Given the description of an element on the screen output the (x, y) to click on. 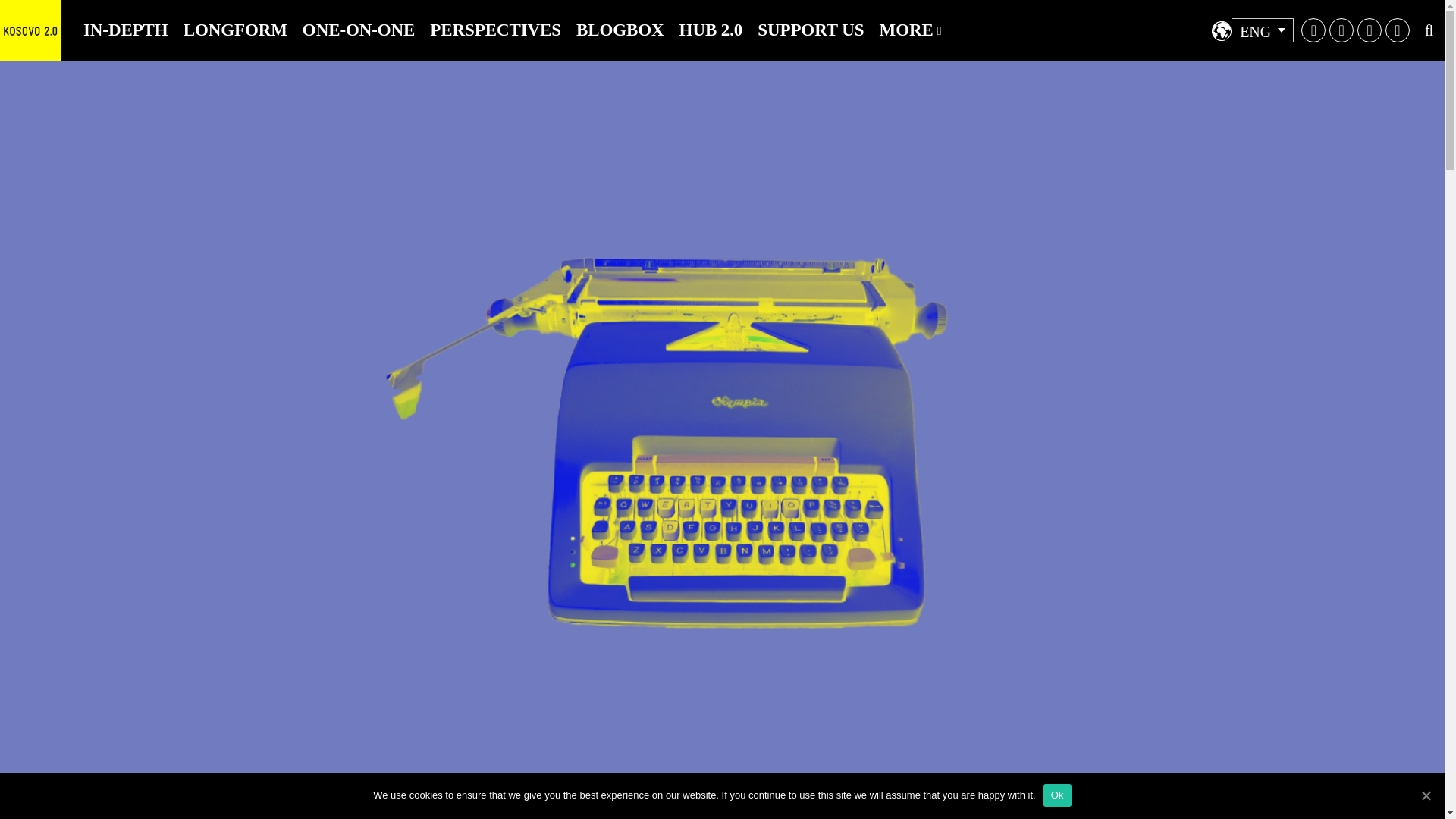
MORE (910, 30)
ONE-ON-ONE (359, 30)
SUPPORT US (809, 30)
HUB 2.0 (711, 30)
PERSPECTIVES (495, 30)
ENG (1262, 29)
BLOGBOX (620, 30)
IN-DEPTH (125, 30)
LONGFORM (235, 30)
